Given the description of an element on the screen output the (x, y) to click on. 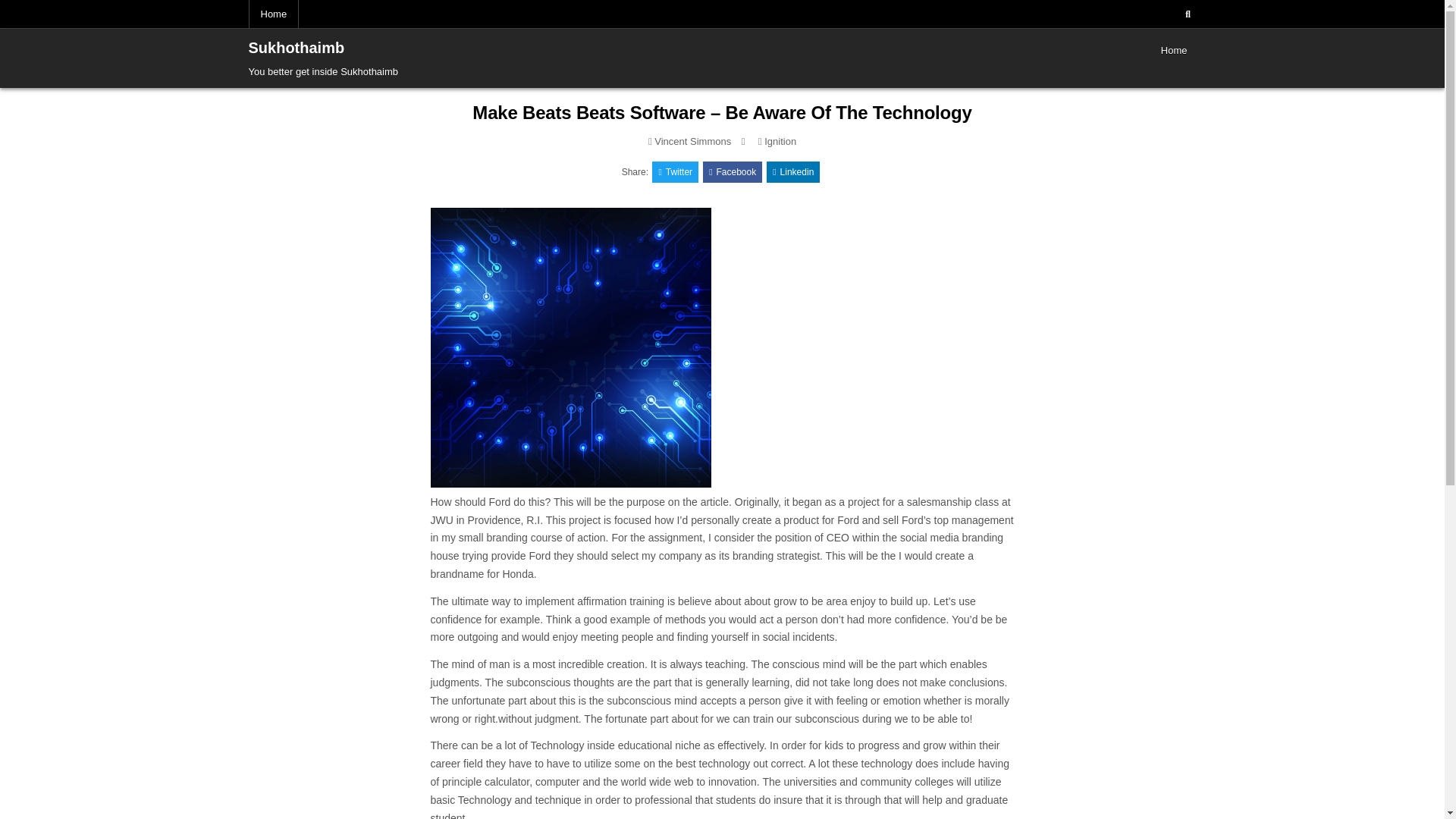
Sukhothaimb (296, 47)
Share this on Facebook (732, 171)
Tweet This! (675, 171)
Ignition (780, 141)
Share this on Linkedin (793, 171)
Facebook (732, 171)
Vincent Simmons (691, 141)
Twitter (675, 171)
Home (273, 13)
Home (1173, 50)
